Given the description of an element on the screen output the (x, y) to click on. 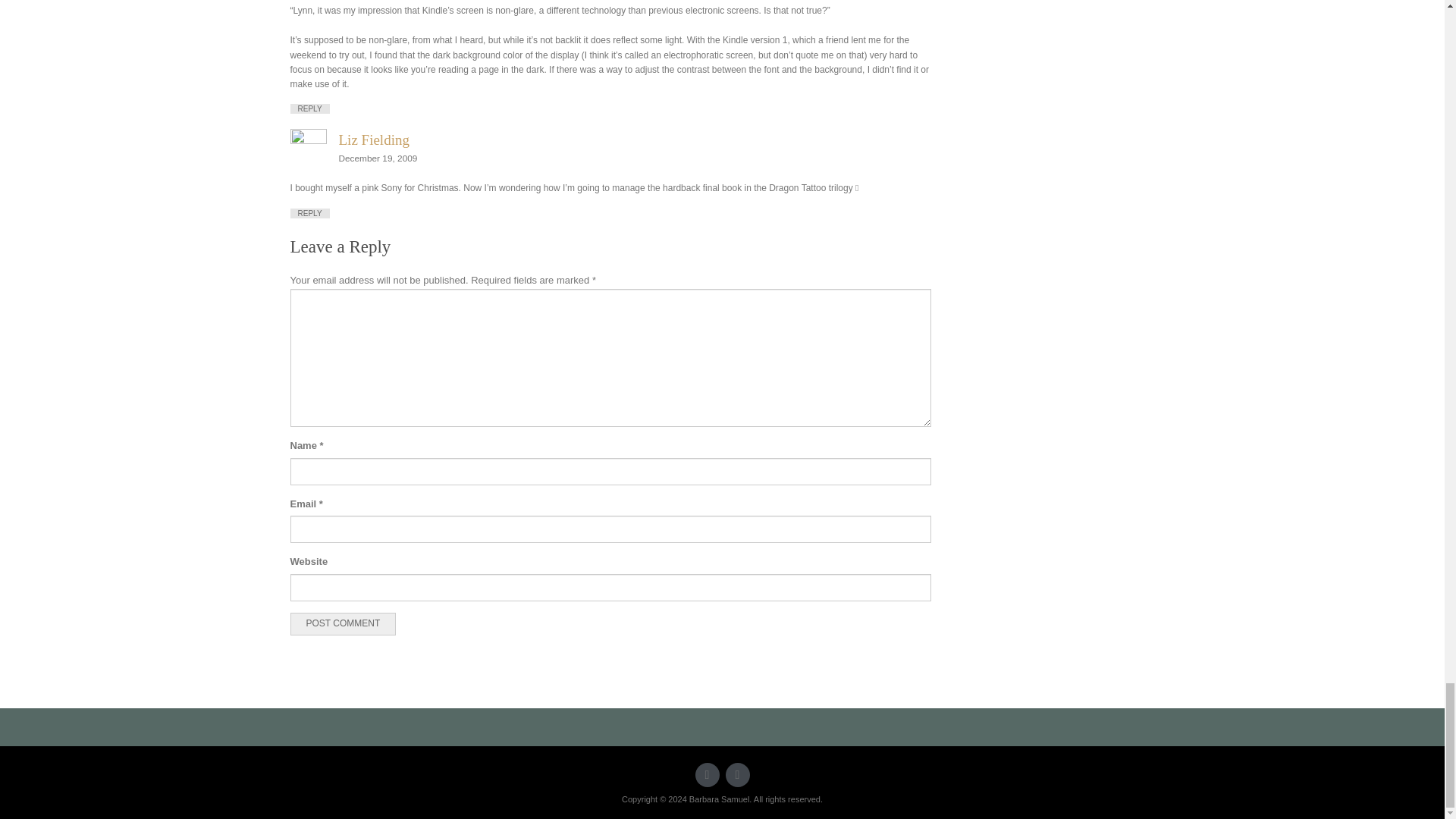
Twitter (706, 774)
Post Comment (342, 623)
Facebook (737, 774)
